Given the description of an element on the screen output the (x, y) to click on. 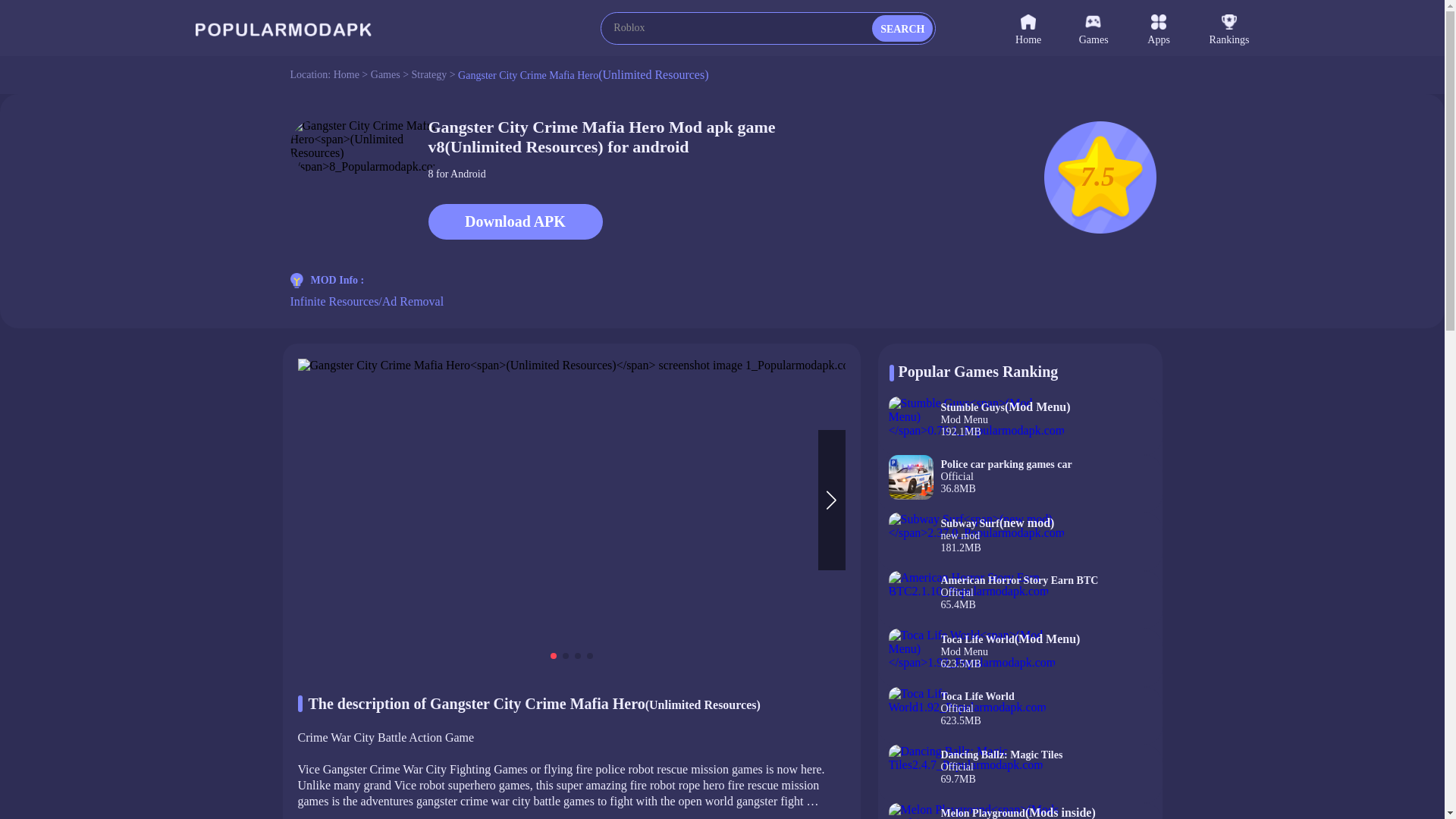
Strategy (429, 74)
Download APK (1019, 773)
Rankings (515, 221)
Apps (1019, 716)
Home (1229, 27)
Games (1177, 27)
